Given the description of an element on the screen output the (x, y) to click on. 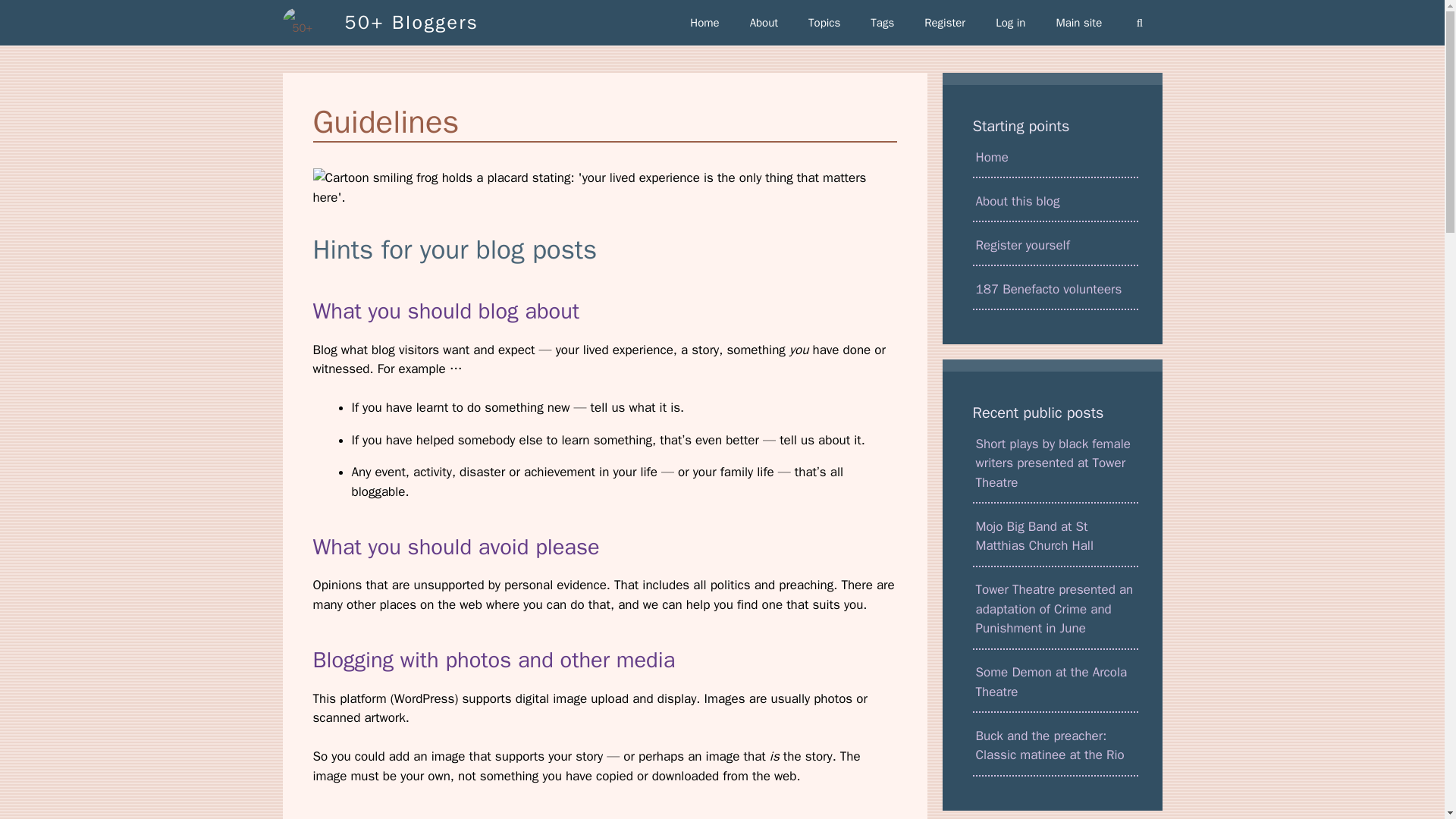
Some Demon at the Arcola Theatre (1054, 683)
Mojo Big Band at St Matthias Church Hall (1054, 536)
Log in (1010, 22)
187 Benefacto volunteers (1054, 290)
About this blog (1054, 201)
Home (1054, 158)
Home (704, 22)
Register (943, 22)
Register yourself (1054, 246)
Tags (882, 22)
Topics (824, 22)
Buck and the preacher: Classic matinee at the Rio (1054, 746)
Tags (882, 22)
